Given the description of an element on the screen output the (x, y) to click on. 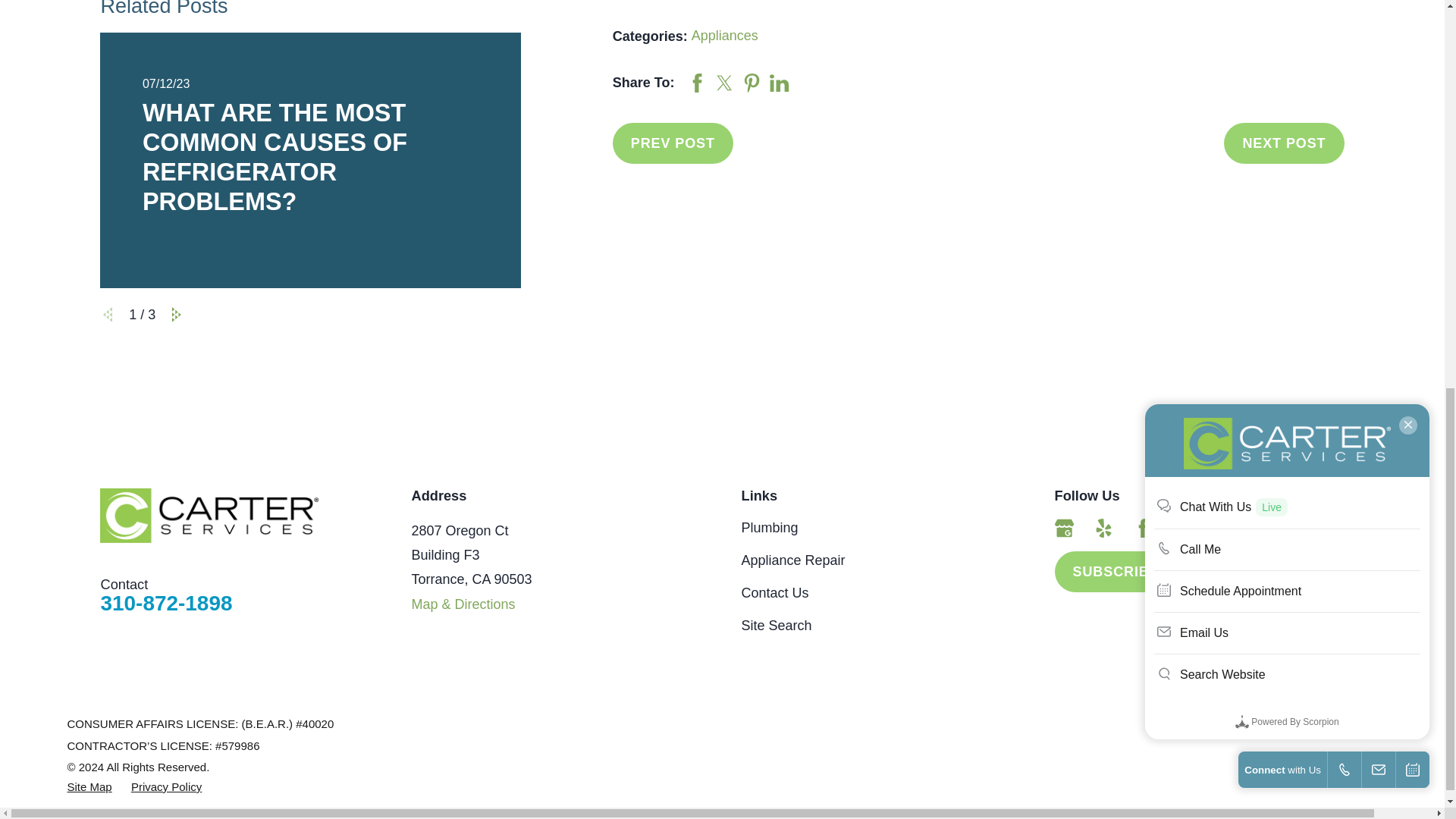
Home (209, 515)
Google Business Profile (1064, 527)
View next item (176, 314)
View previous item (107, 314)
